Given the description of an element on the screen output the (x, y) to click on. 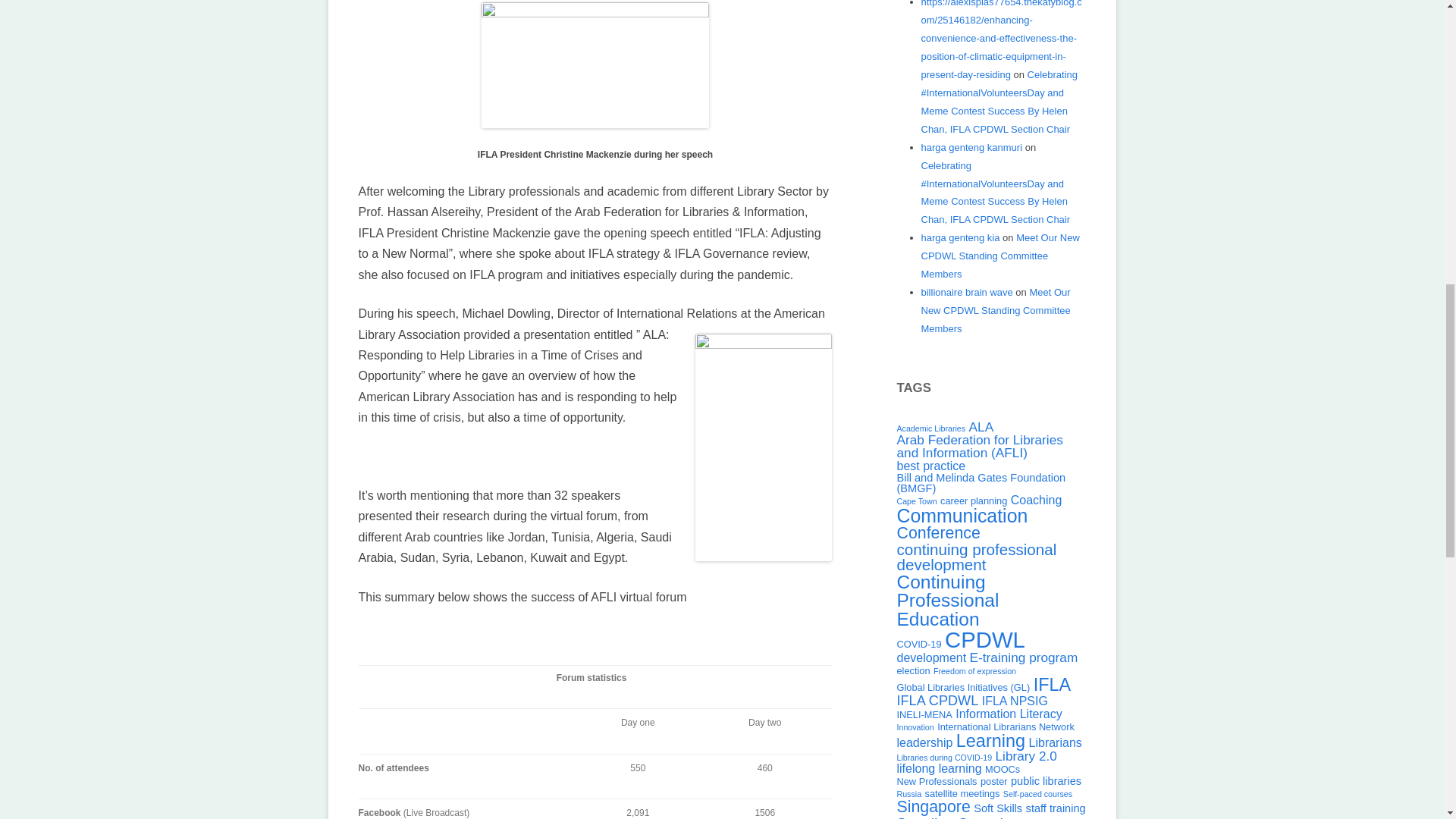
Academic Libraries (930, 428)
Meet Our New CPDWL Standing Committee Members (995, 310)
best practice (930, 465)
Coaching (1036, 499)
harga genteng kia (959, 237)
billionaire brain wave (965, 292)
career planning (973, 500)
Communication (961, 515)
Meet Our New CPDWL Standing Committee Members (999, 255)
Cape Town (916, 501)
